Given the description of an element on the screen output the (x, y) to click on. 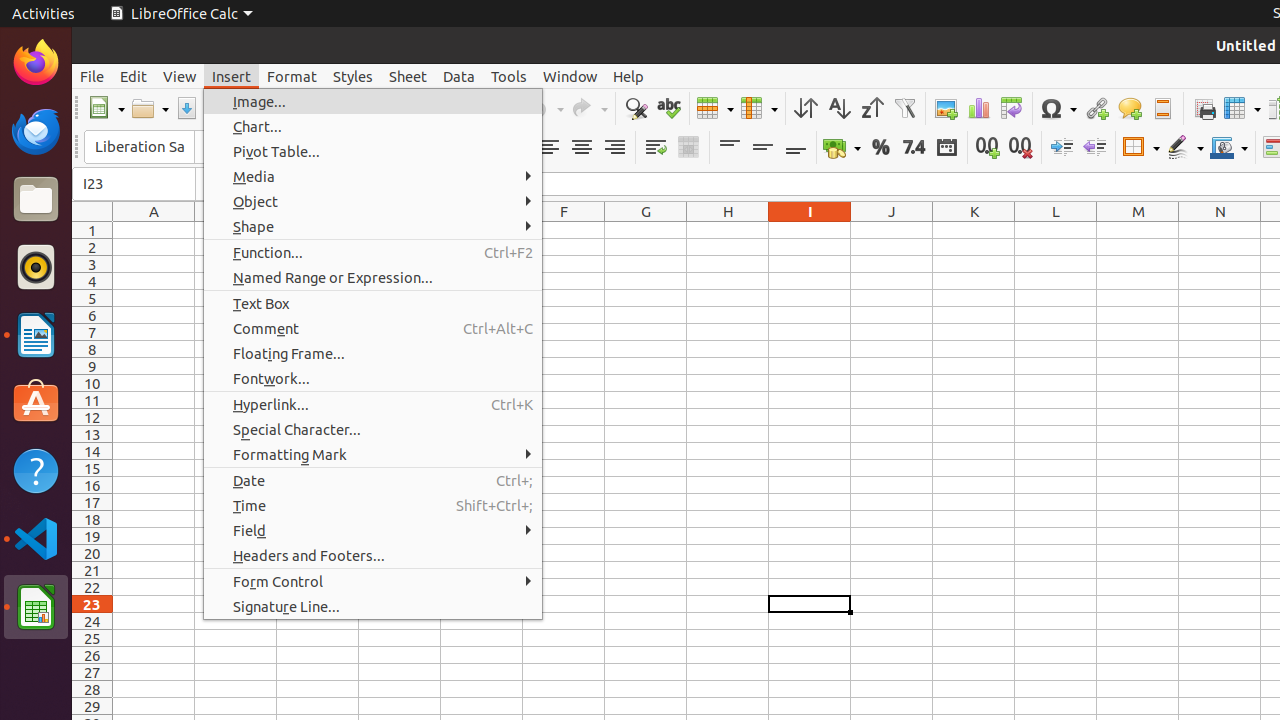
Tools Element type: menu (509, 76)
Headers and Footers... Element type: menu-item (373, 555)
Hyperlink Element type: toggle-button (1096, 108)
Shape Element type: menu (373, 226)
